Given the description of an element on the screen output the (x, y) to click on. 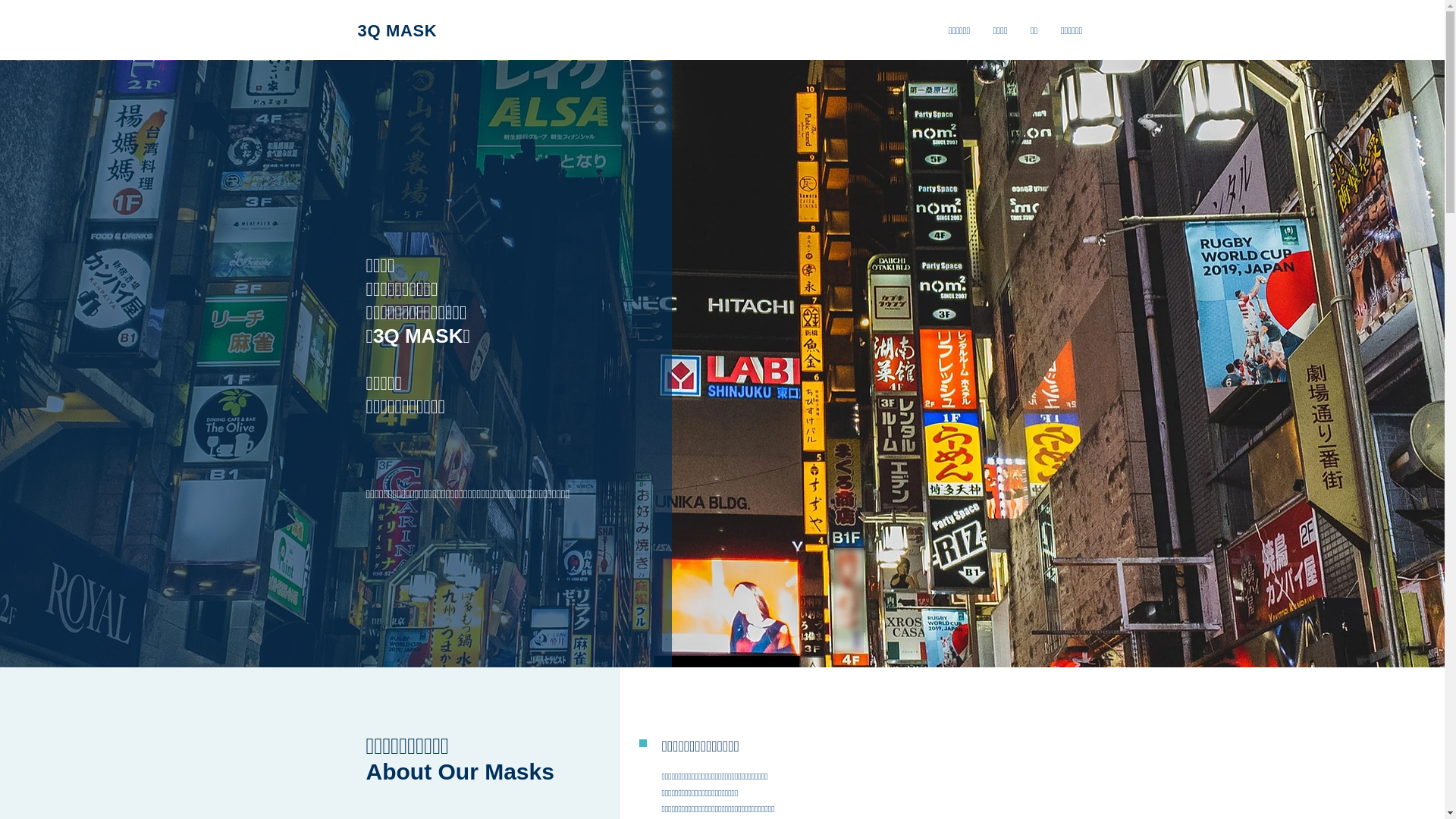
3Q MASK Element type: text (397, 30)
